Given the description of an element on the screen output the (x, y) to click on. 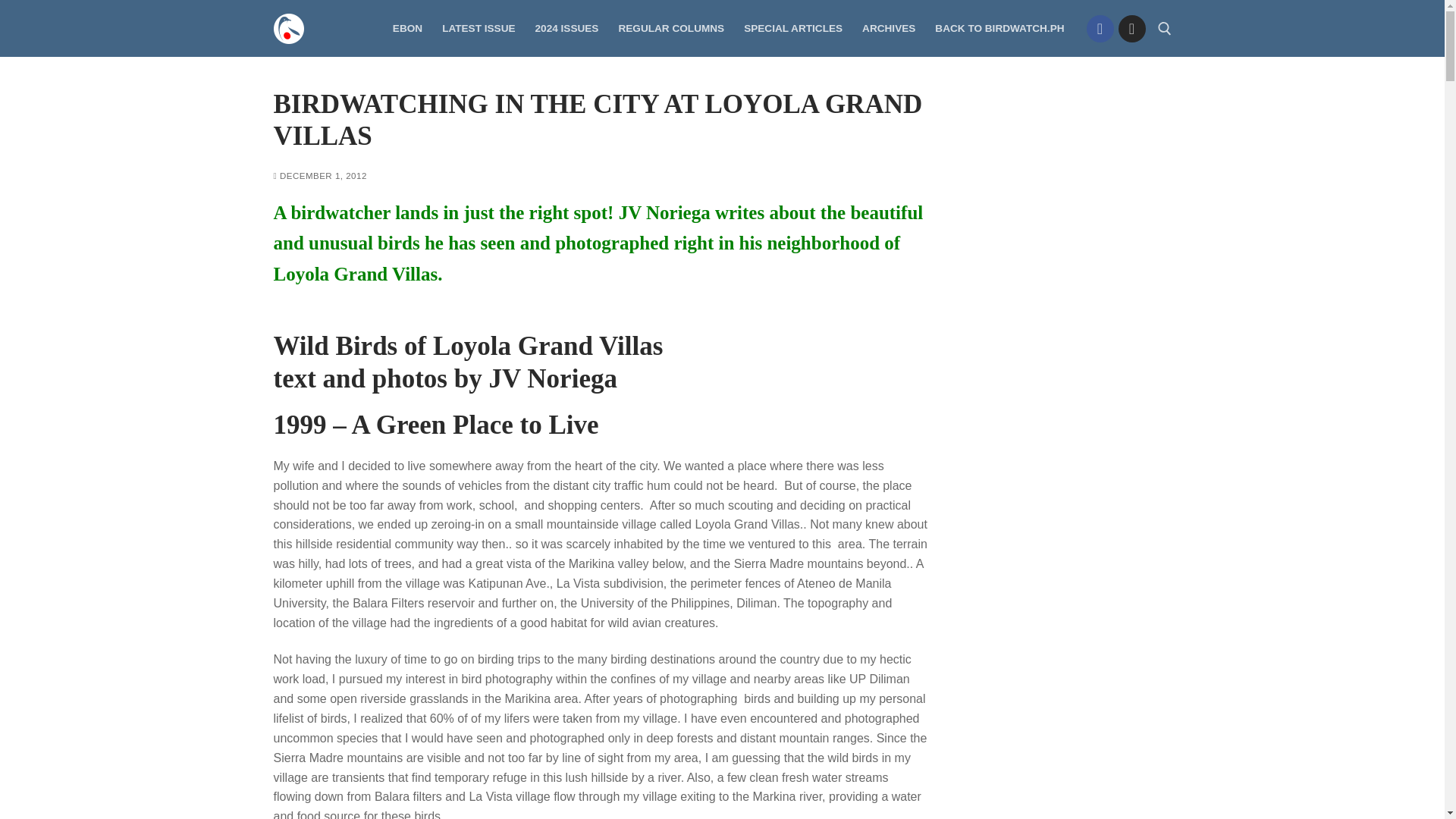
BACK TO BIRDWATCH.PH (999, 28)
LATEST ISSUE (478, 28)
SPECIAL ARTICLES (792, 28)
EBON (407, 28)
Instagram (1132, 28)
Facebook (1100, 28)
2024 ISSUES (566, 28)
DECEMBER 1, 2012 (319, 175)
REGULAR COLUMNS (670, 28)
ARCHIVES (887, 28)
